Given the description of an element on the screen output the (x, y) to click on. 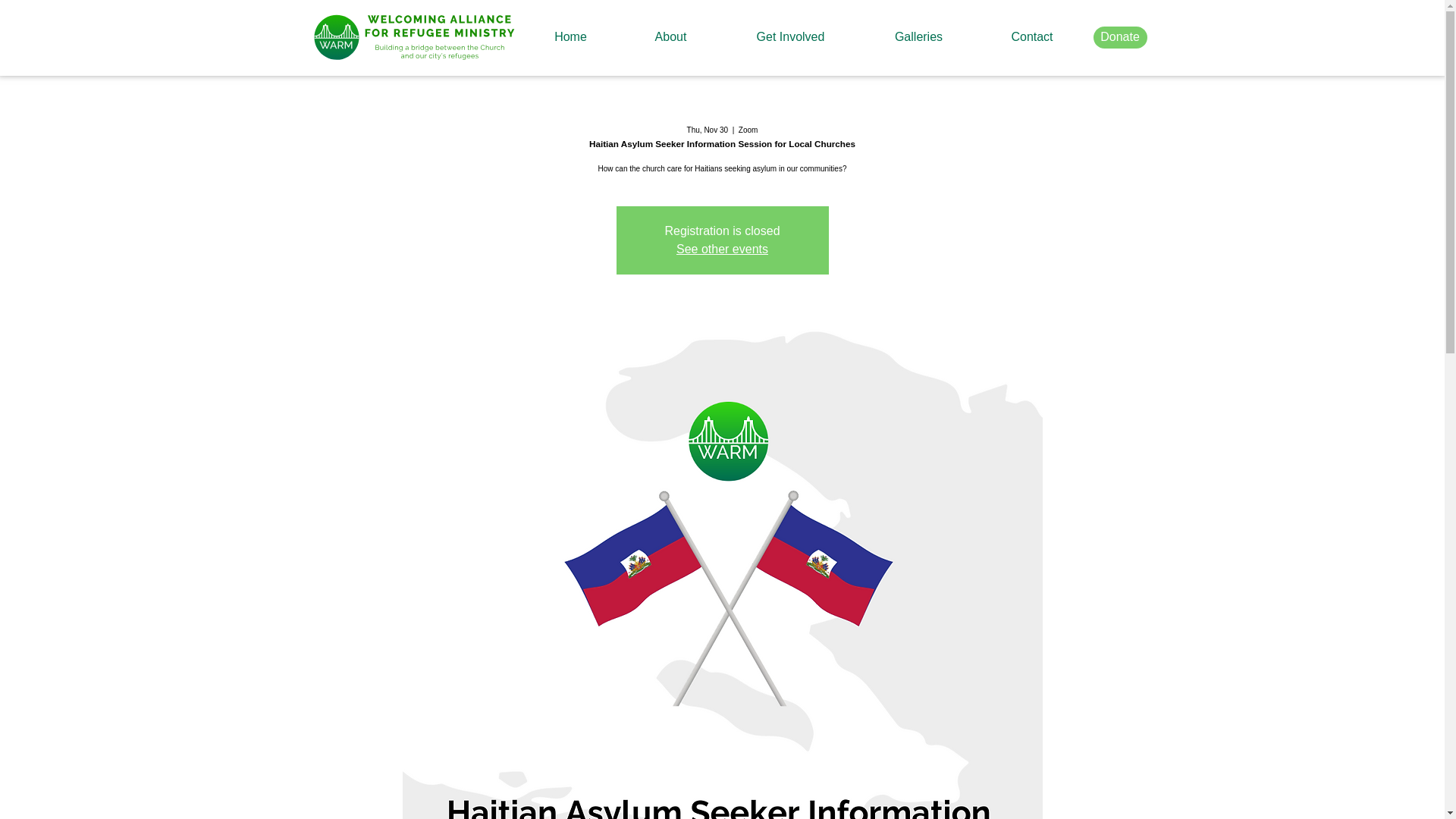
Donate (1120, 37)
Home (569, 36)
See other events (722, 248)
Contact (1031, 36)
Galleries (918, 36)
